Given the description of an element on the screen output the (x, y) to click on. 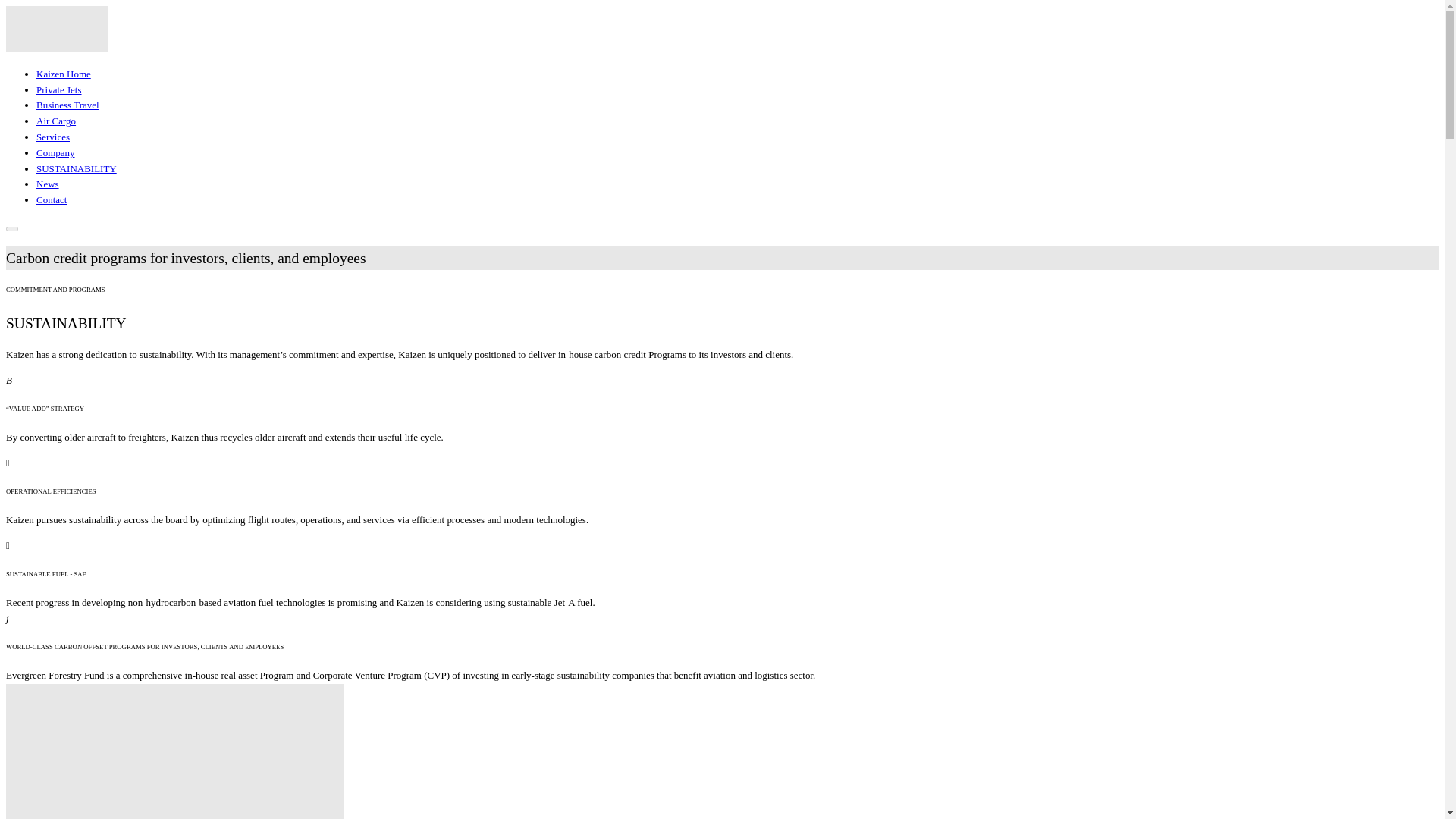
Contact (51, 199)
Company (55, 152)
Business Travel (67, 104)
Air Cargo (55, 120)
Services (52, 136)
Kaizen Home (63, 73)
News (47, 183)
SUSTAINABILITY (76, 168)
Private Jets (58, 89)
